Given the description of an element on the screen output the (x, y) to click on. 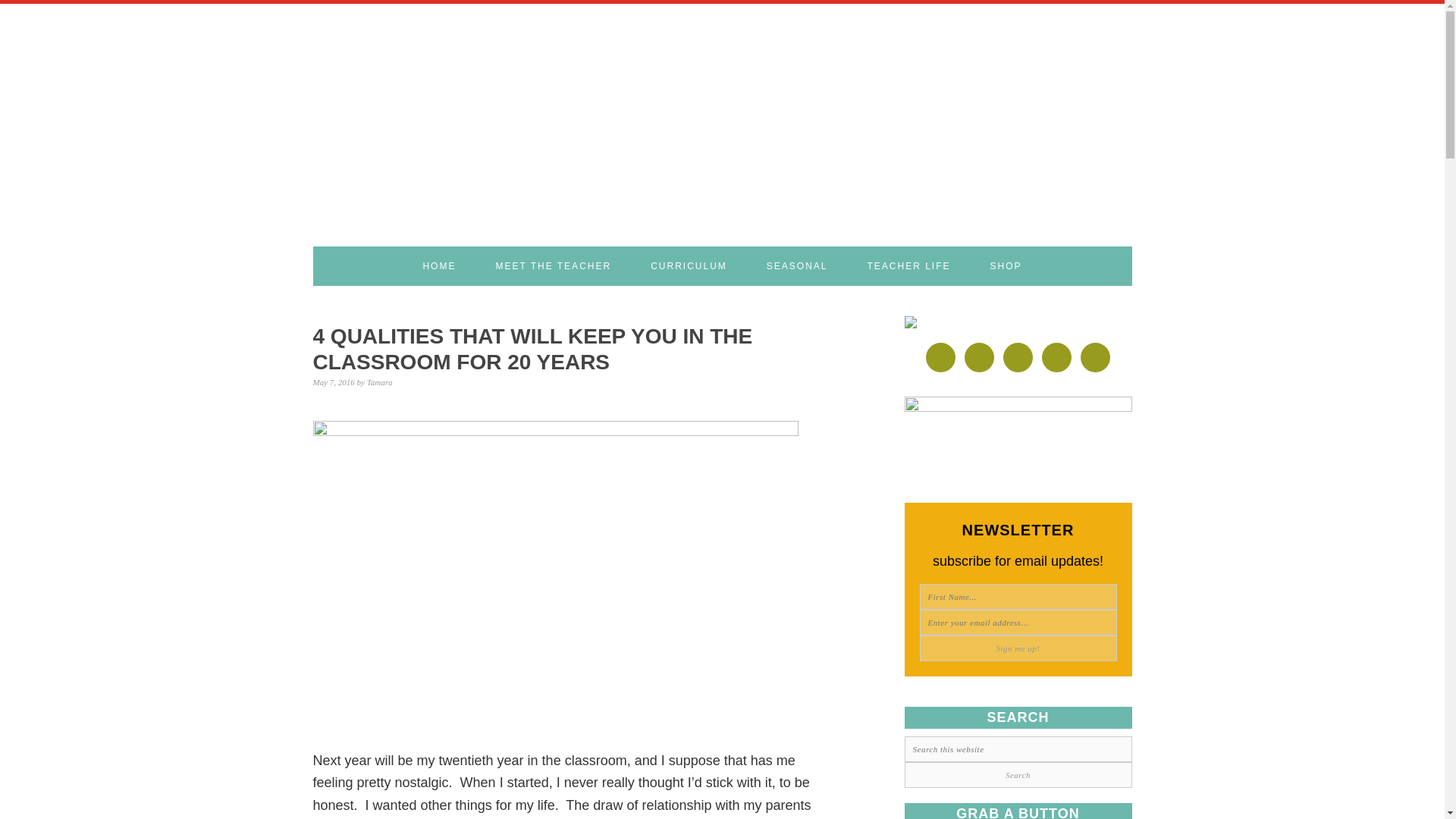
SHOP (1006, 265)
MEET THE TEACHER (553, 265)
Search (1017, 774)
Search (1017, 774)
TEACHER LIFE (908, 265)
CURRICULUM (688, 265)
Sign me up! (1017, 647)
SEASONAL (797, 265)
Tamara (379, 381)
HOME (438, 265)
